Given the description of an element on the screen output the (x, y) to click on. 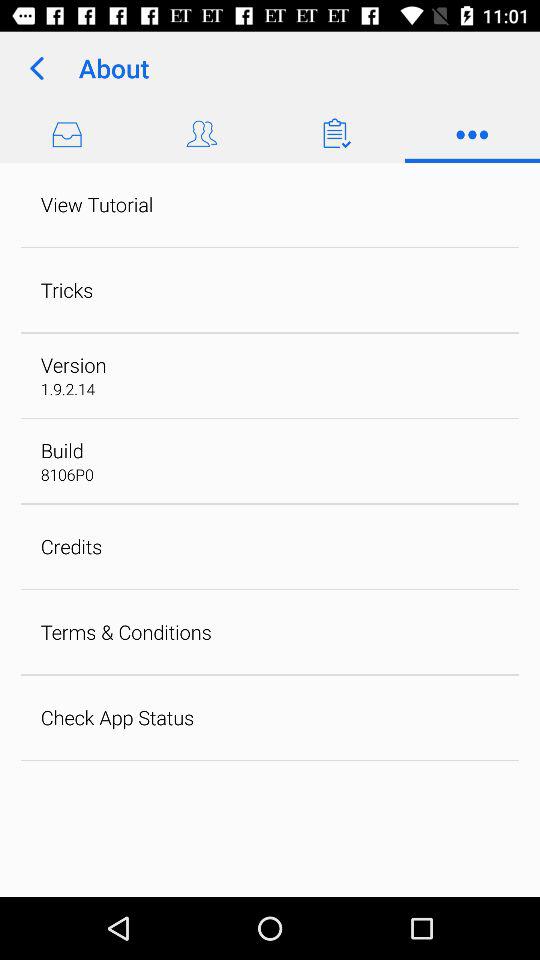
flip until the version app (73, 364)
